Given the description of an element on the screen output the (x, y) to click on. 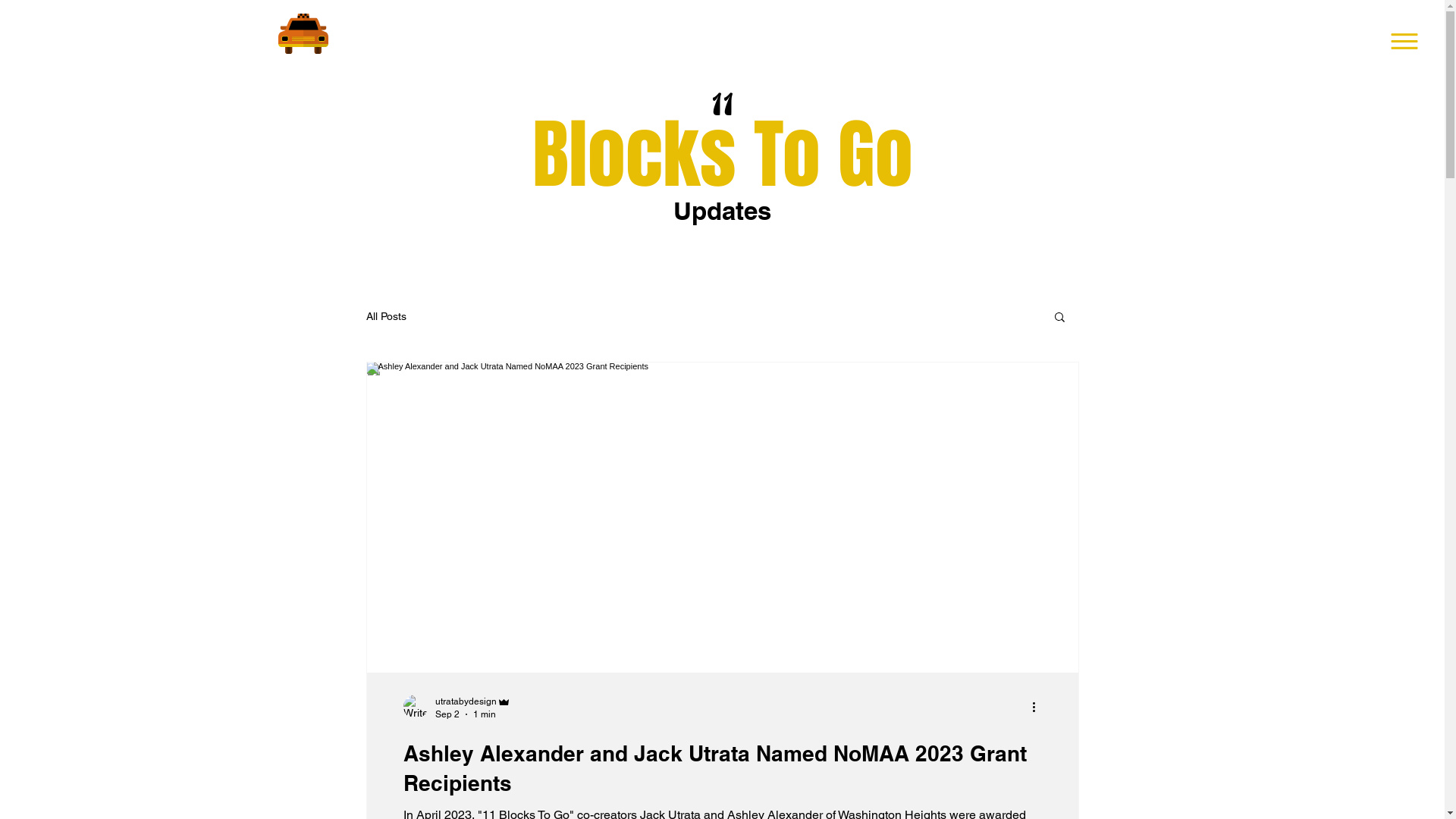
All Posts Element type: text (385, 316)
Blocks To Go Element type: text (722, 154)
11 Element type: text (722, 105)
